Given the description of an element on the screen output the (x, y) to click on. 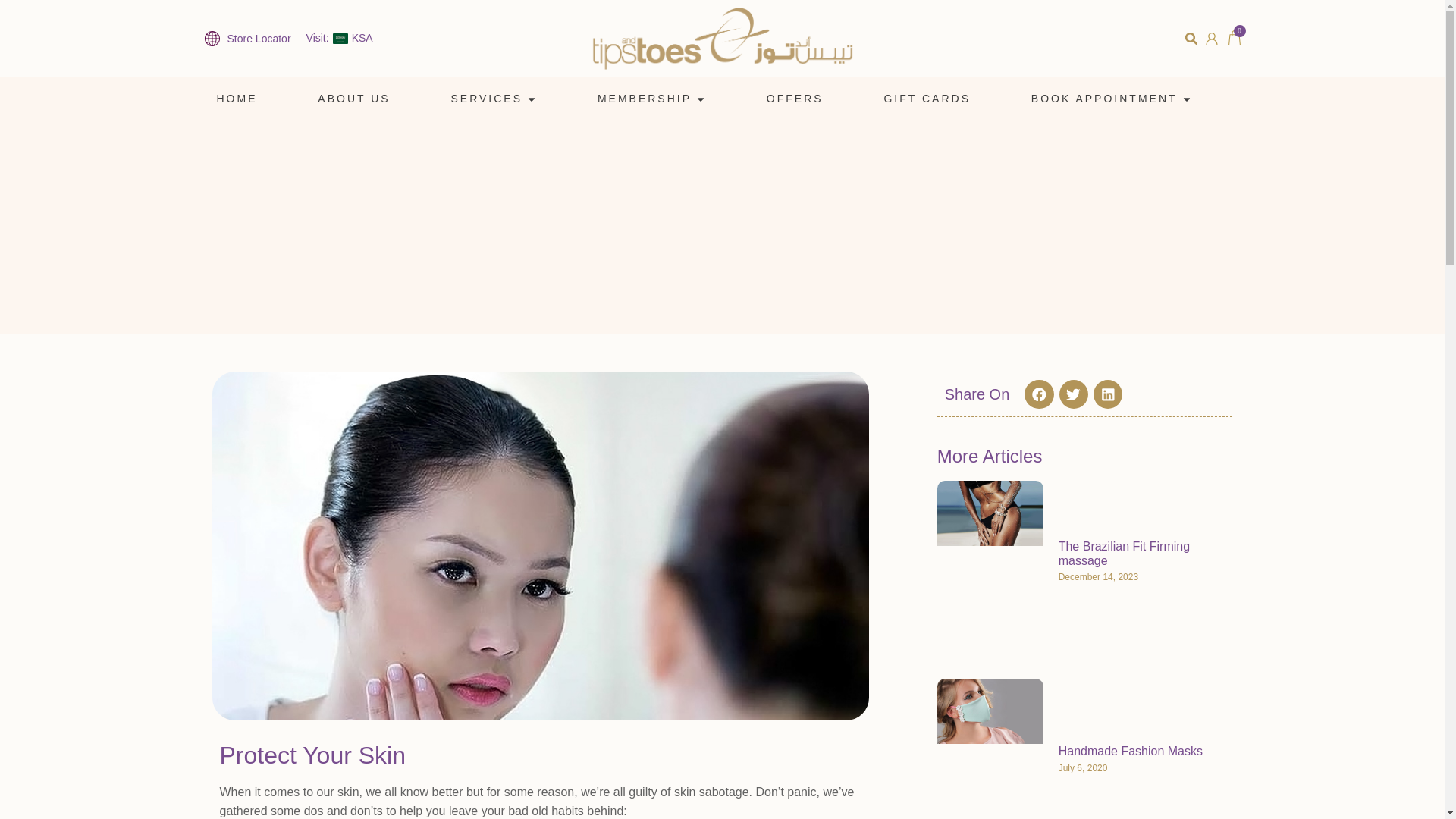
ABOUT US (353, 98)
HOME (236, 98)
SERVICES (485, 98)
Store Locator (248, 38)
